Given the description of an element on the screen output the (x, y) to click on. 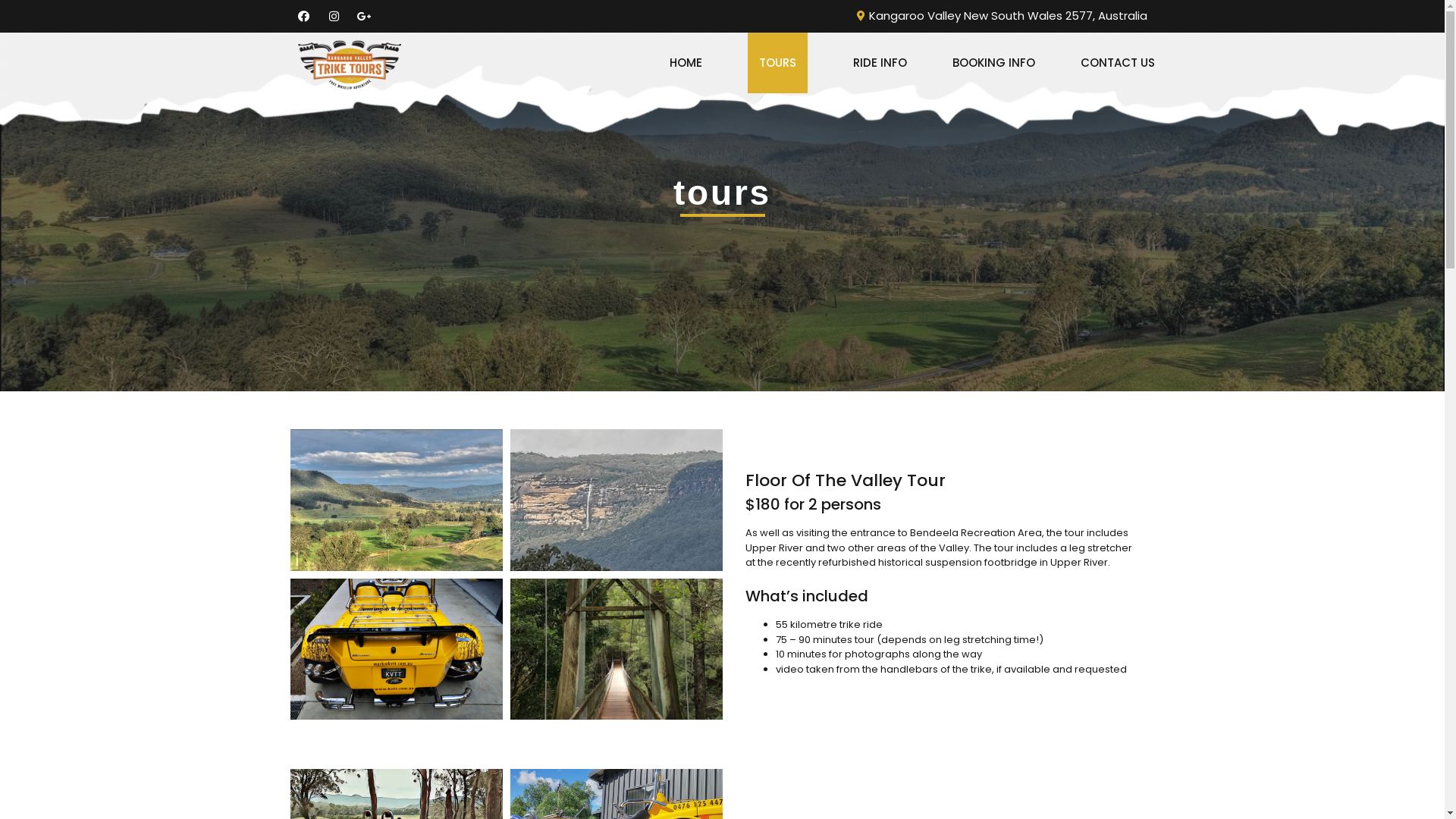
HOME Element type: text (684, 61)
RIDE INFO Element type: text (879, 61)
BOOKING INFO Element type: text (993, 61)
TOURS Element type: text (777, 61)
CONTACT US Element type: text (1116, 61)
